Given the description of an element on the screen output the (x, y) to click on. 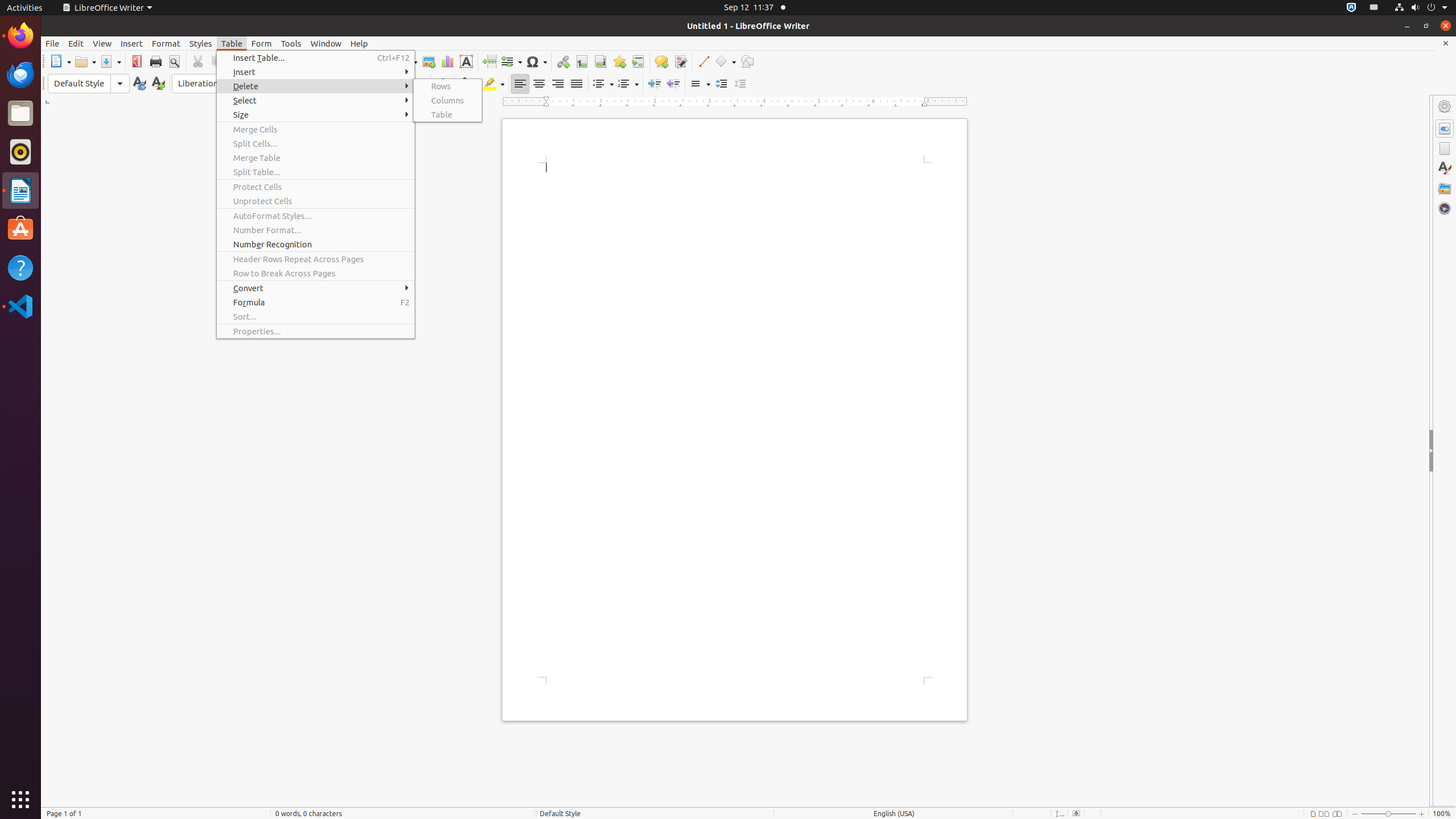
Number Format... Element type: menu-item (315, 229)
Track Changes Functions Element type: toggle-button (679, 61)
Format Element type: menu (165, 43)
Size Element type: menu (315, 114)
Split Cells... Element type: menu-item (315, 143)
